Given the description of an element on the screen output the (x, y) to click on. 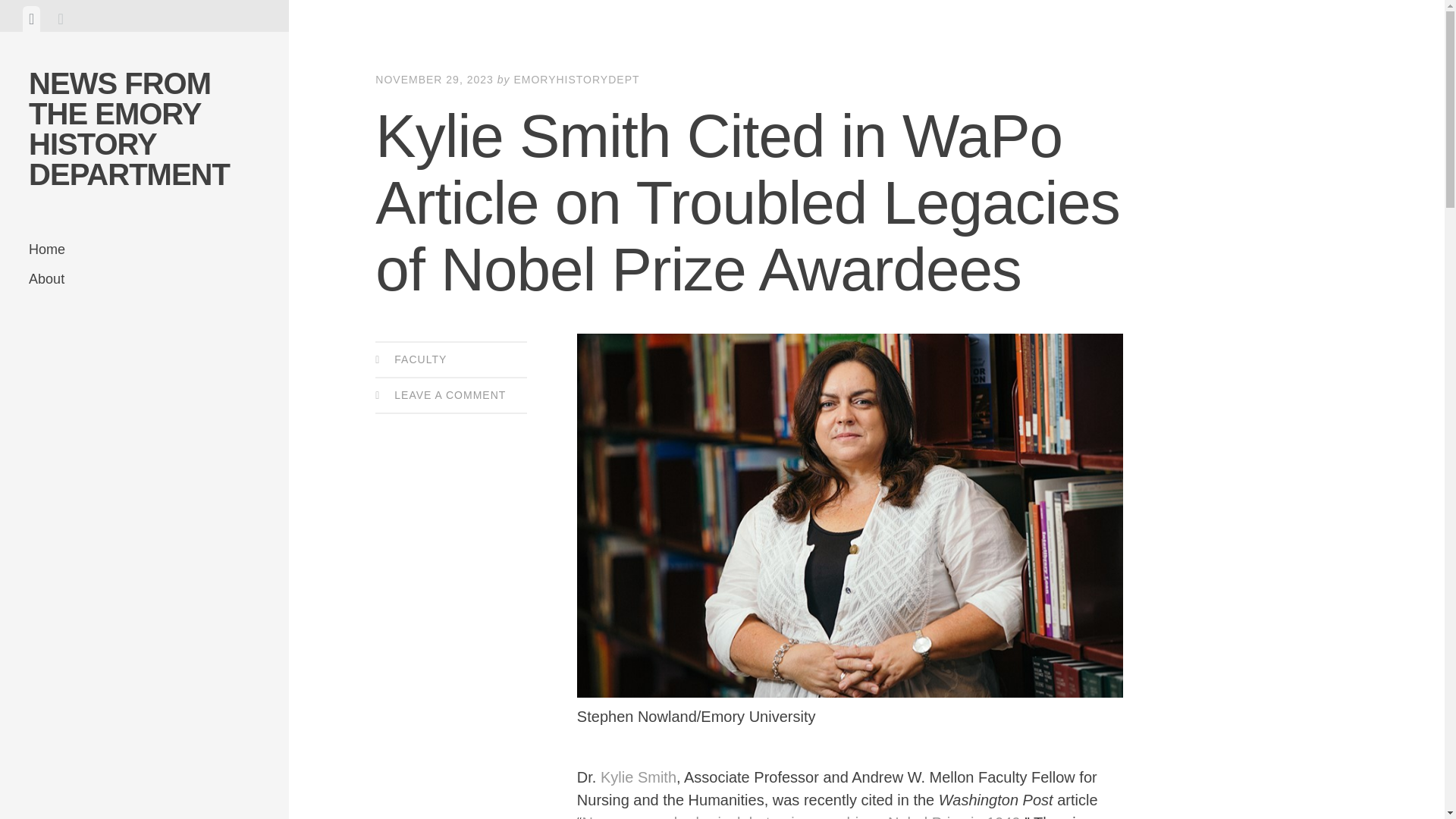
Home (144, 249)
About (144, 279)
NEWS FROM THE EMORY HISTORY DEPARTMENT (129, 128)
